Given the description of an element on the screen output the (x, y) to click on. 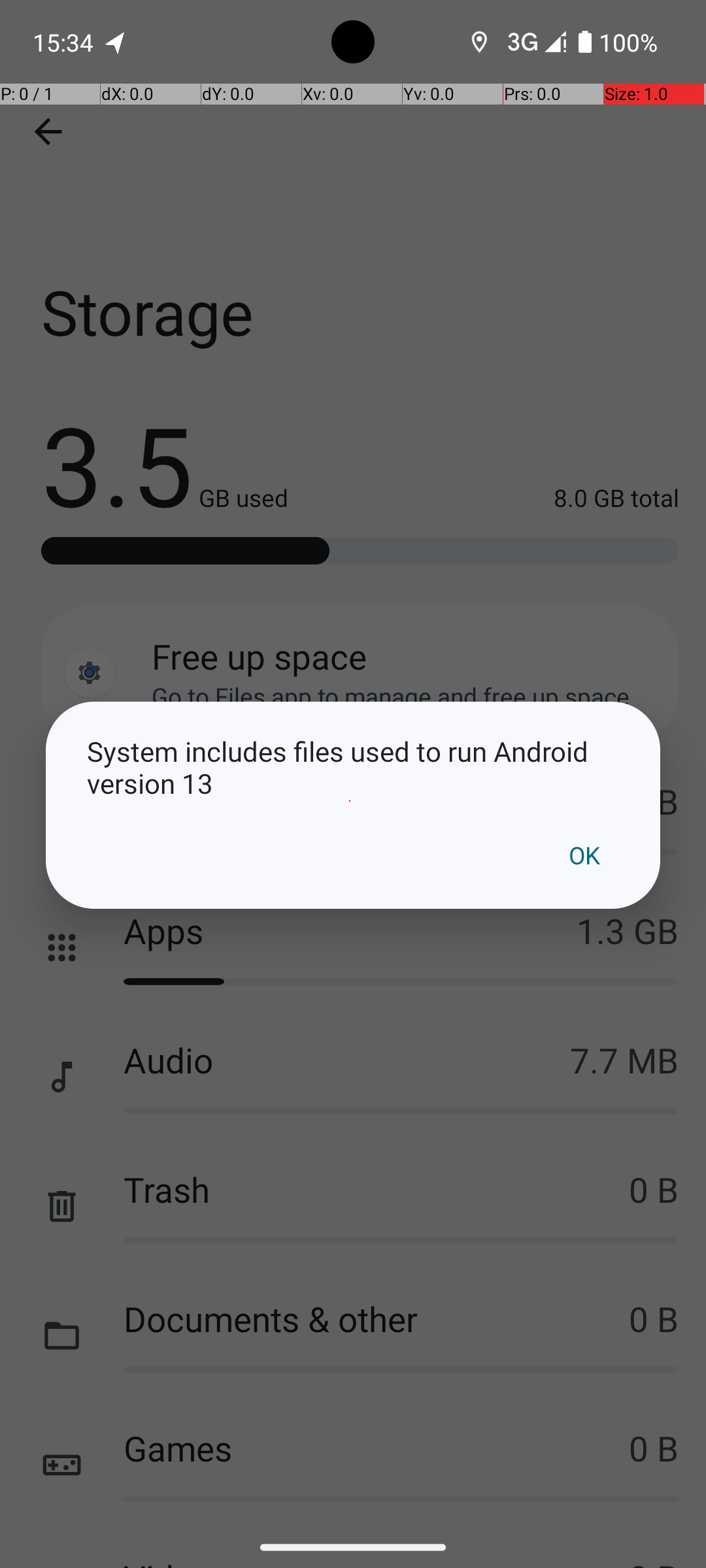
System includes files used to run Android version 13 Element type: android.widget.TextView (352, 766)
